Given the description of an element on the screen output the (x, y) to click on. 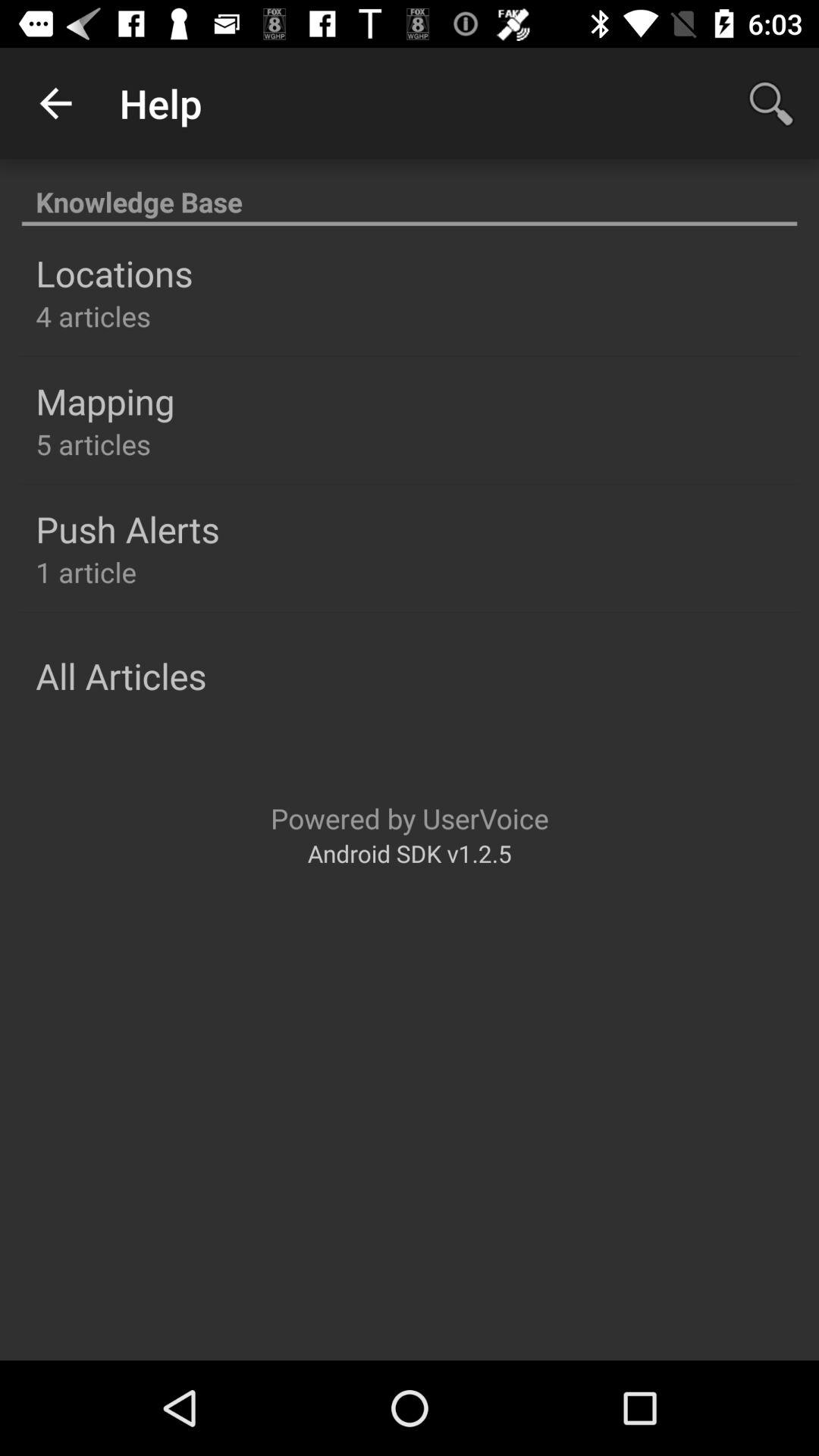
launch 1 article icon (85, 571)
